Given the description of an element on the screen output the (x, y) to click on. 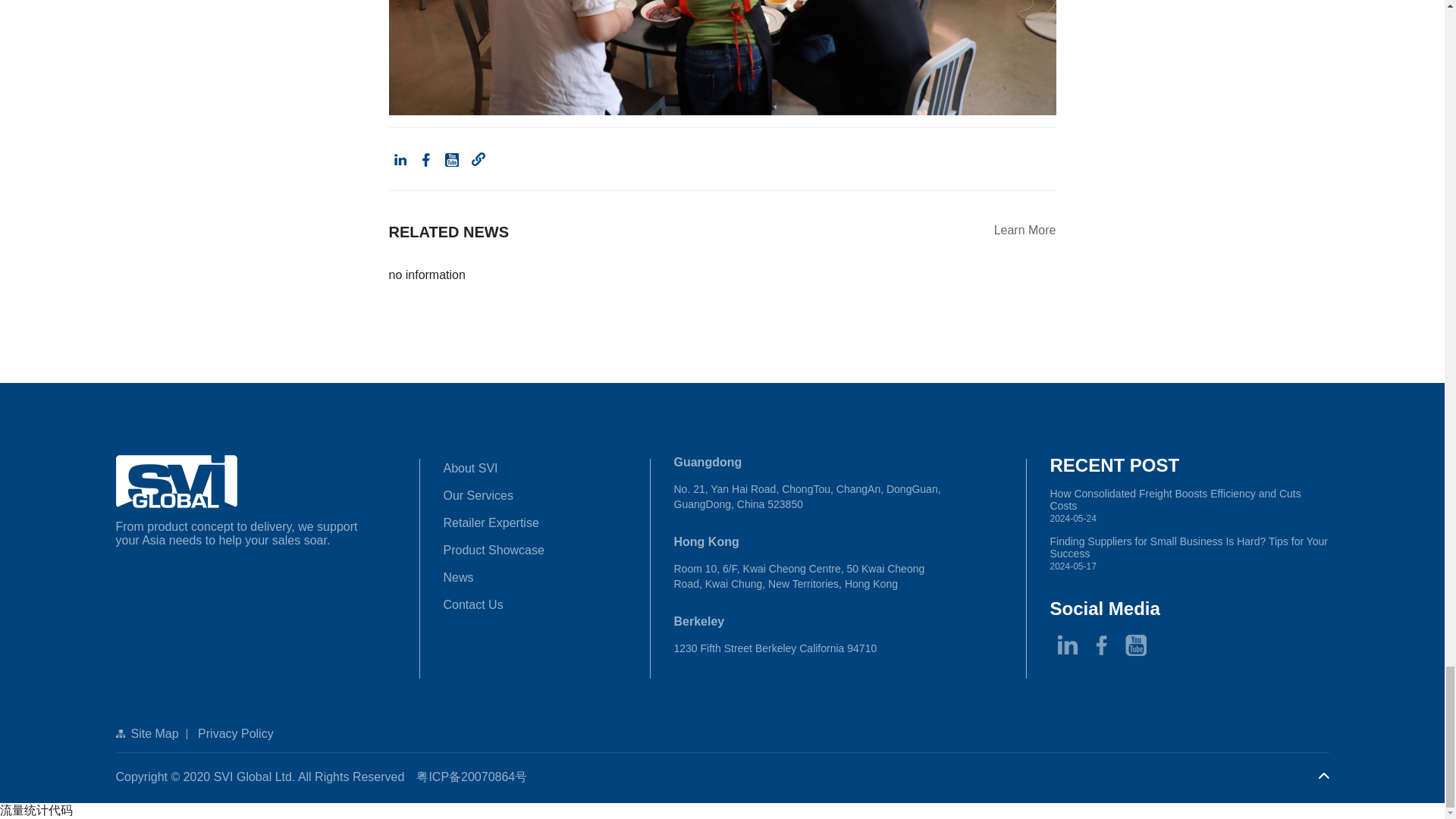
Share Facebook (426, 159)
Share Youtube (452, 159)
Share LinkedIn (399, 159)
